Given the description of an element on the screen output the (x, y) to click on. 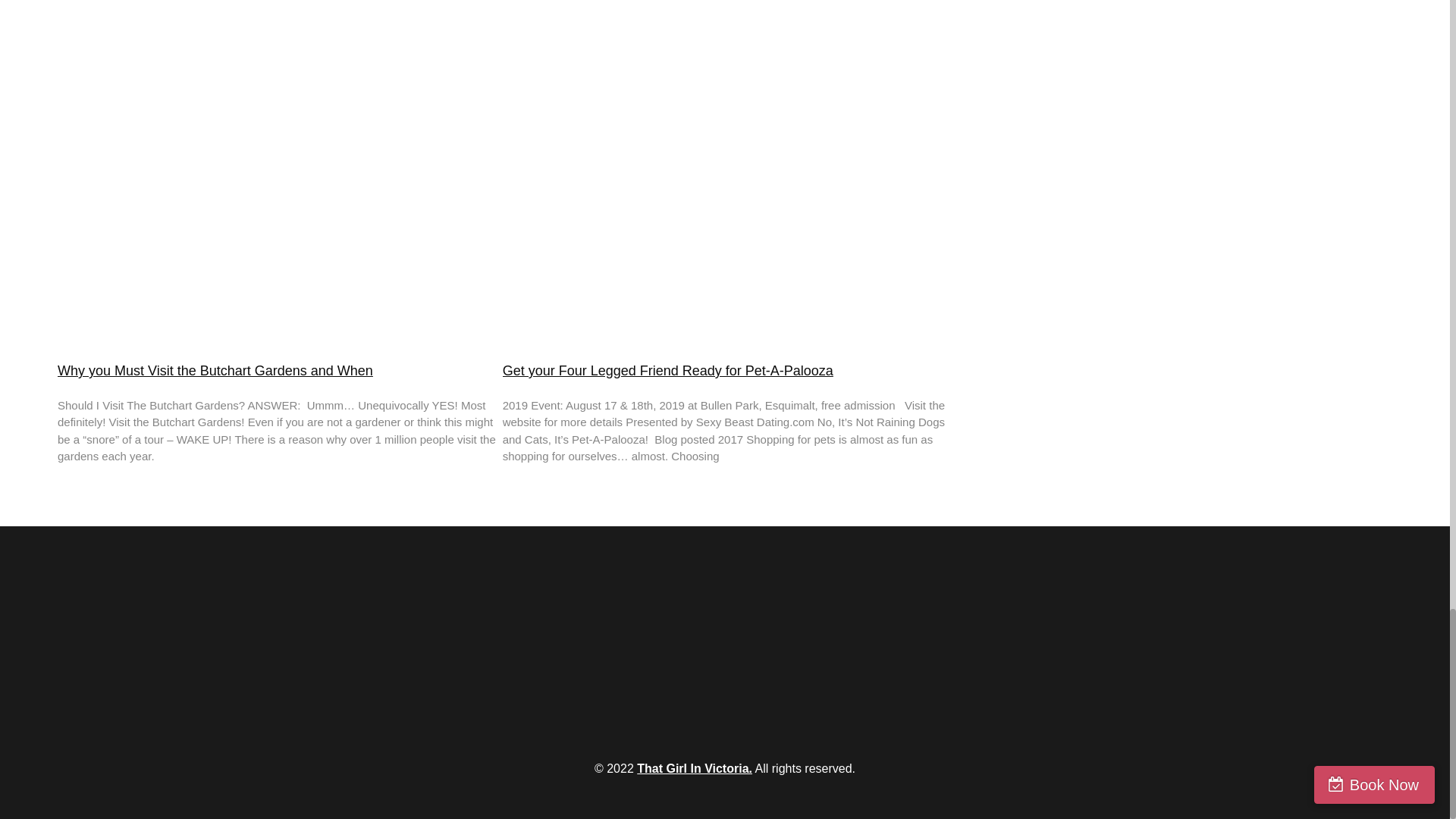
Why you Must Visit the Butchart Gardens and When (215, 370)
